Given the description of an element on the screen output the (x, y) to click on. 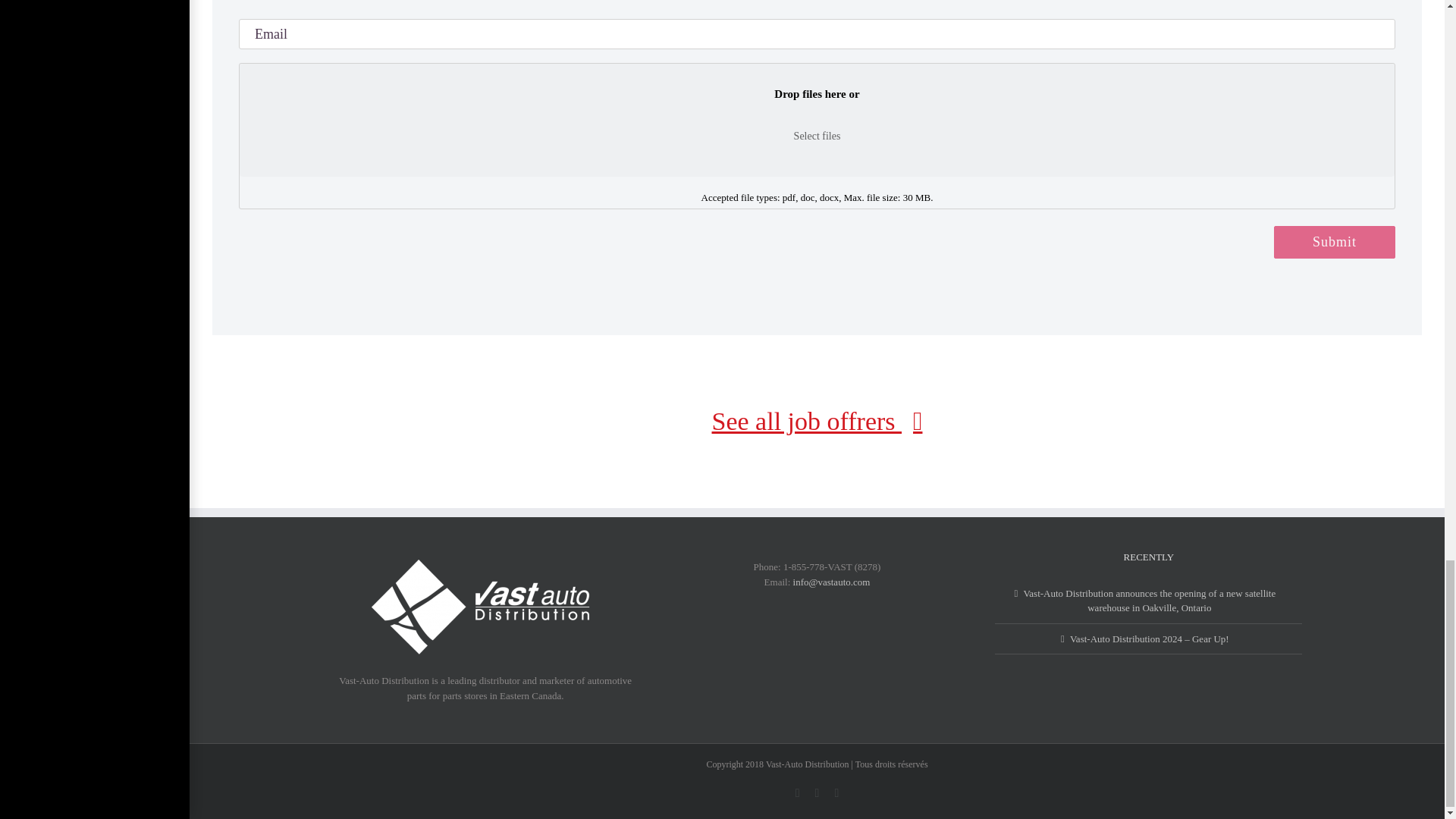
Submit (1334, 242)
